Given the description of an element on the screen output the (x, y) to click on. 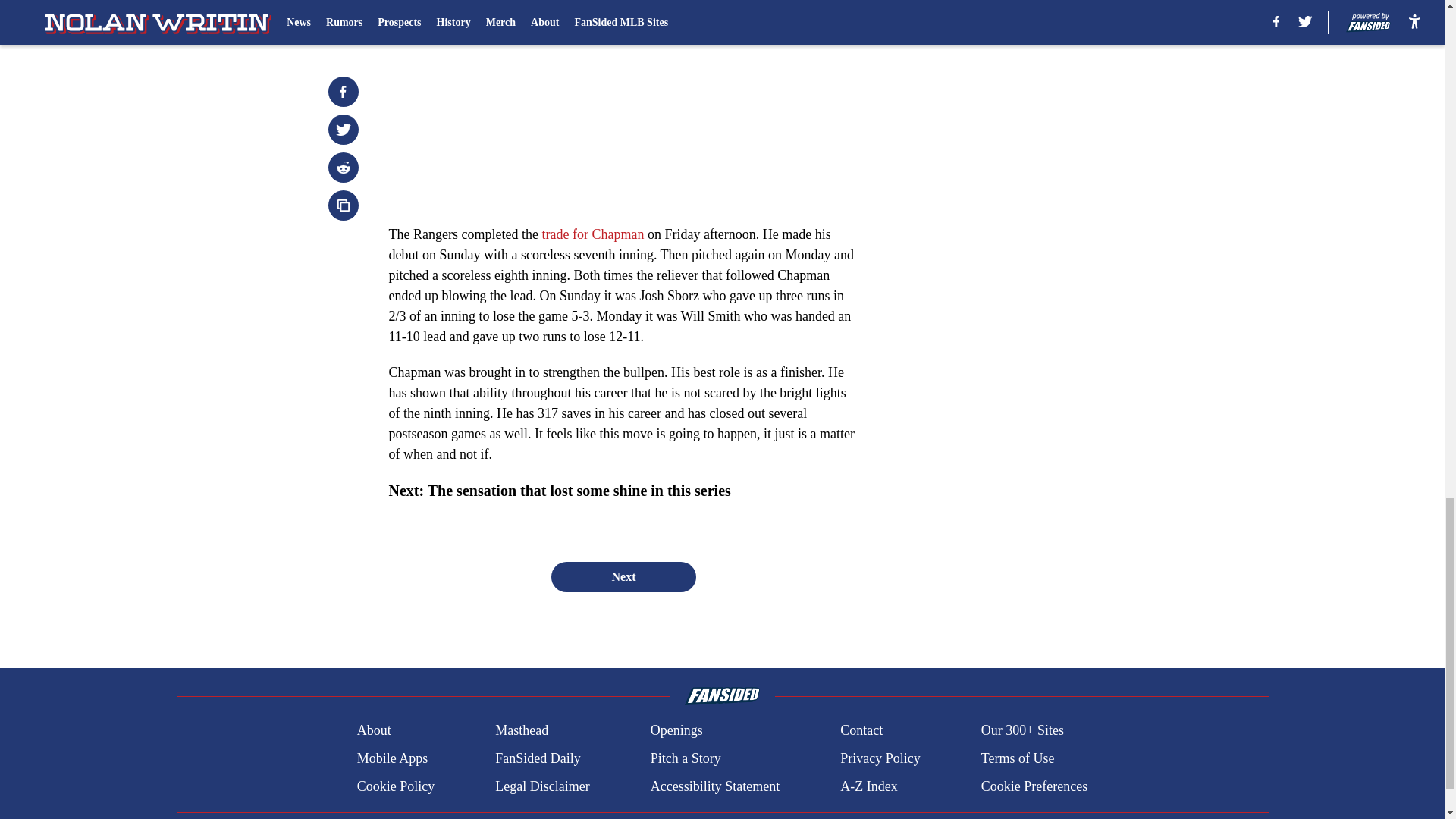
FanSided Daily (537, 758)
Terms of Use (1017, 758)
Privacy Policy (880, 758)
Legal Disclaimer (542, 786)
Cookie Policy (395, 786)
About (373, 730)
Masthead (521, 730)
Contact (861, 730)
Pitch a Story (685, 758)
Next (622, 576)
trade for Chapman (593, 233)
Openings (676, 730)
Mobile Apps (392, 758)
